Given the description of an element on the screen output the (x, y) to click on. 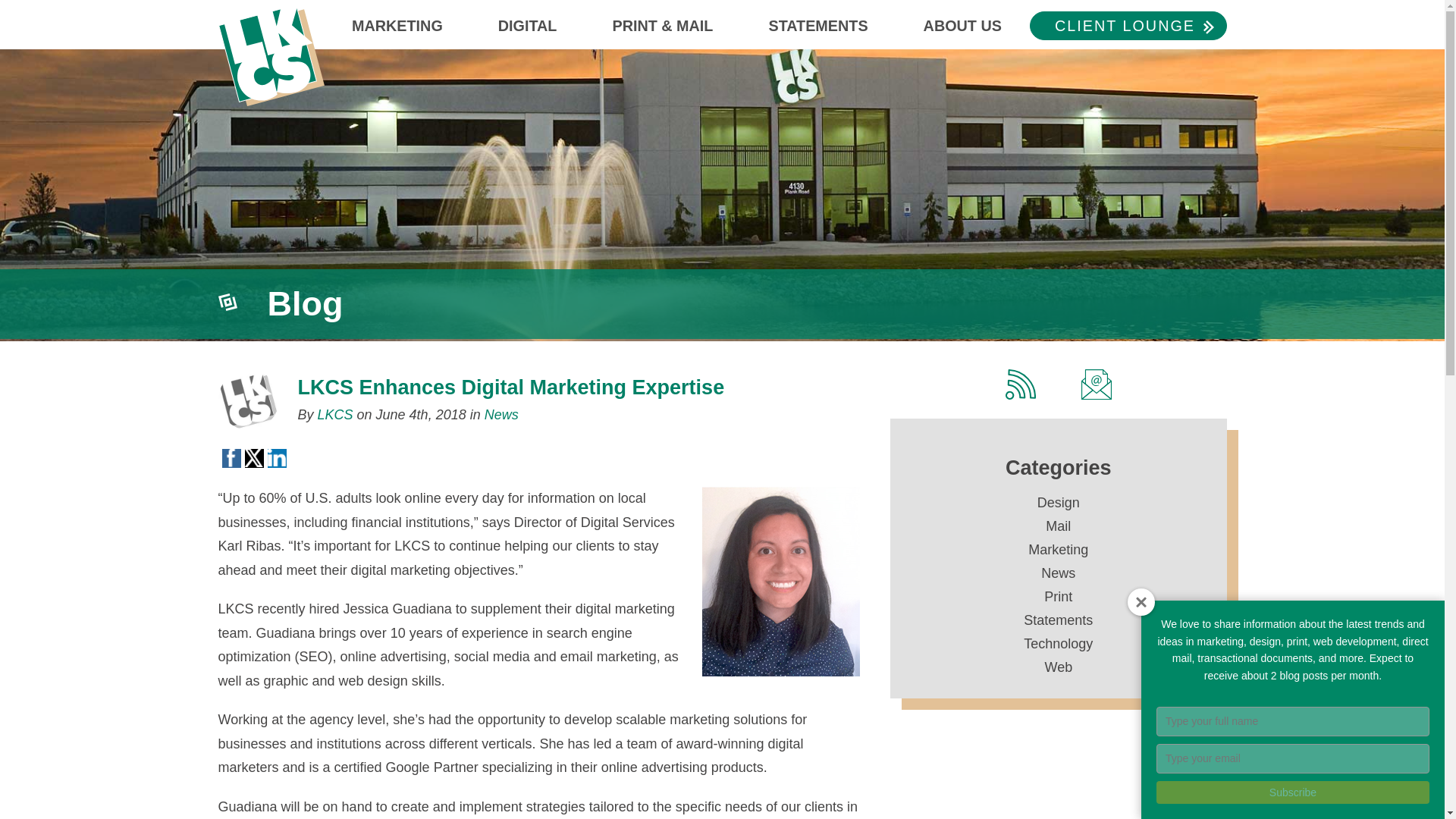
Posts by LKCS (335, 414)
View all posts in News (501, 414)
LinkedIn (275, 456)
MARKETING (397, 31)
Subscribe via Email (1095, 384)
Subscribe via RSS (1020, 384)
Facebook (230, 456)
Twitter (253, 456)
DIGITAL (527, 31)
LKCS (271, 53)
